Given the description of an element on the screen output the (x, y) to click on. 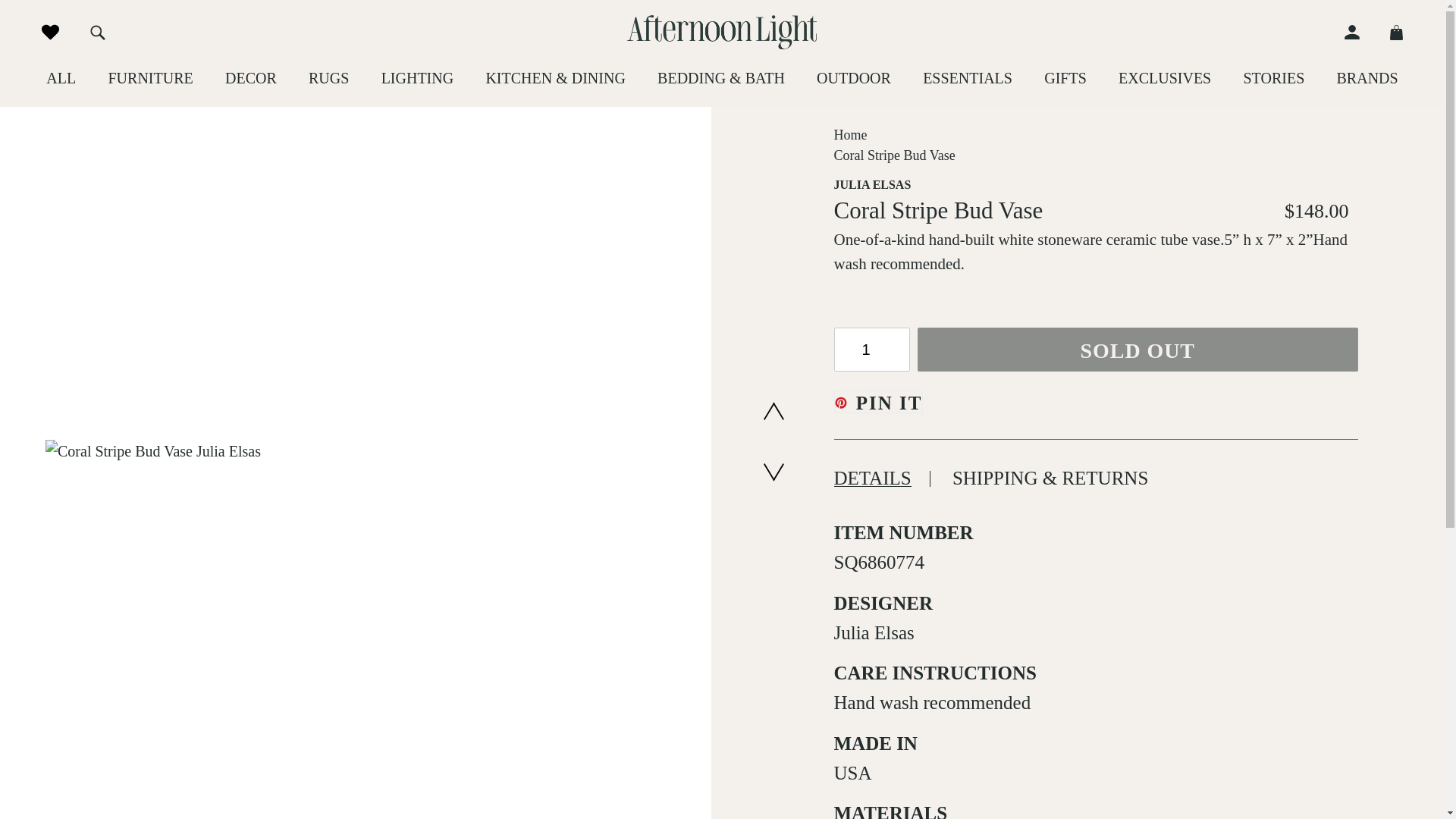
Cart (1388, 32)
1 (872, 349)
FURNITURE (149, 77)
ALL (60, 77)
Log in (1358, 32)
